Given the description of an element on the screen output the (x, y) to click on. 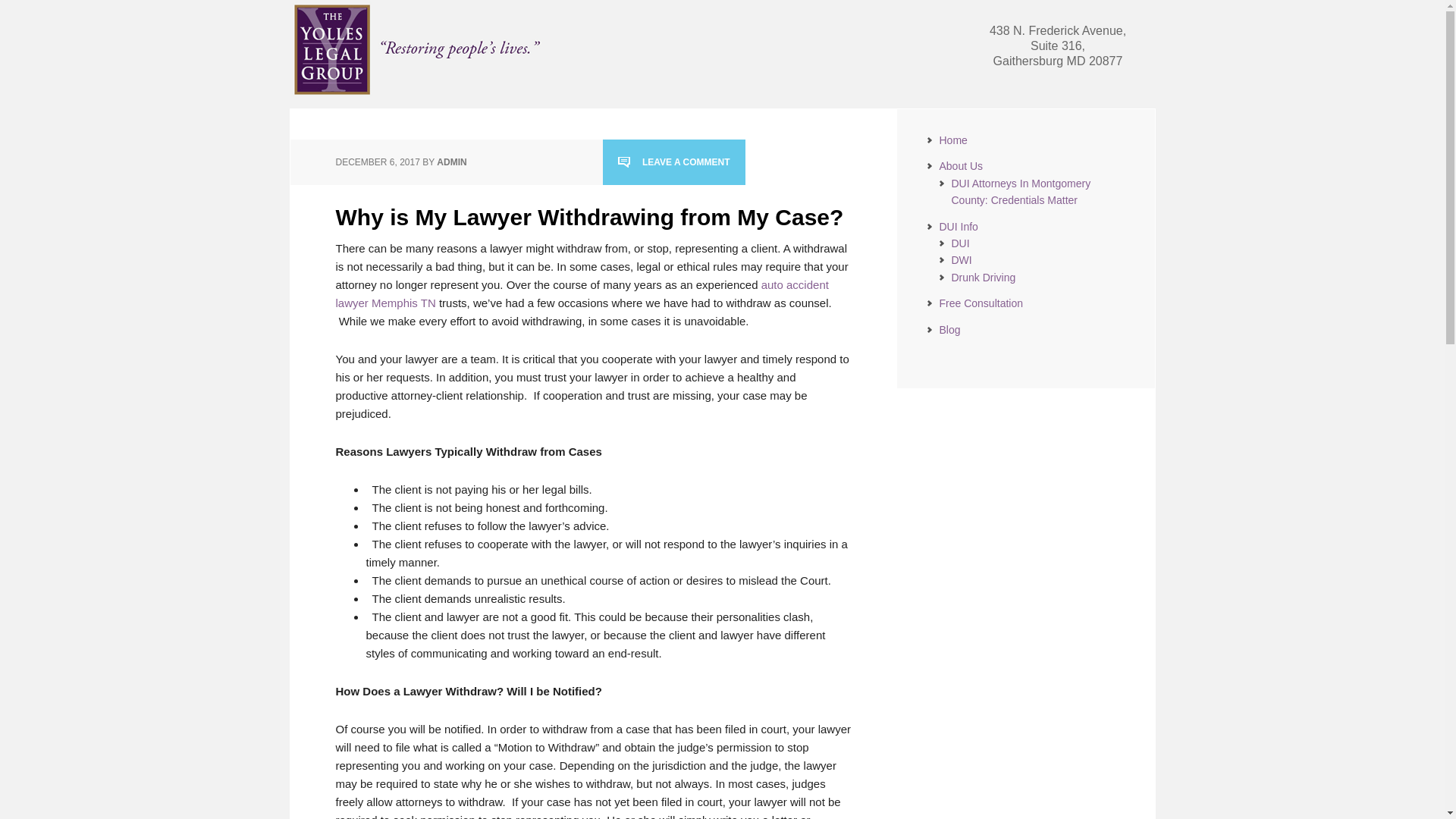
Fight Your DUI-DWI Case (419, 49)
DUI Attorneys In Montgomery County: Credentials Matter (1020, 191)
DUI Info (957, 226)
DWI (960, 259)
auto accident lawyer Memphis TN (581, 292)
About Us (960, 165)
Drunk Driving (982, 277)
DUI (959, 243)
ADMIN (450, 162)
Home (952, 140)
LEAVE A COMMENT (673, 162)
h1 (419, 91)
Free Consultation (981, 303)
Blog (949, 329)
